Given the description of an element on the screen output the (x, y) to click on. 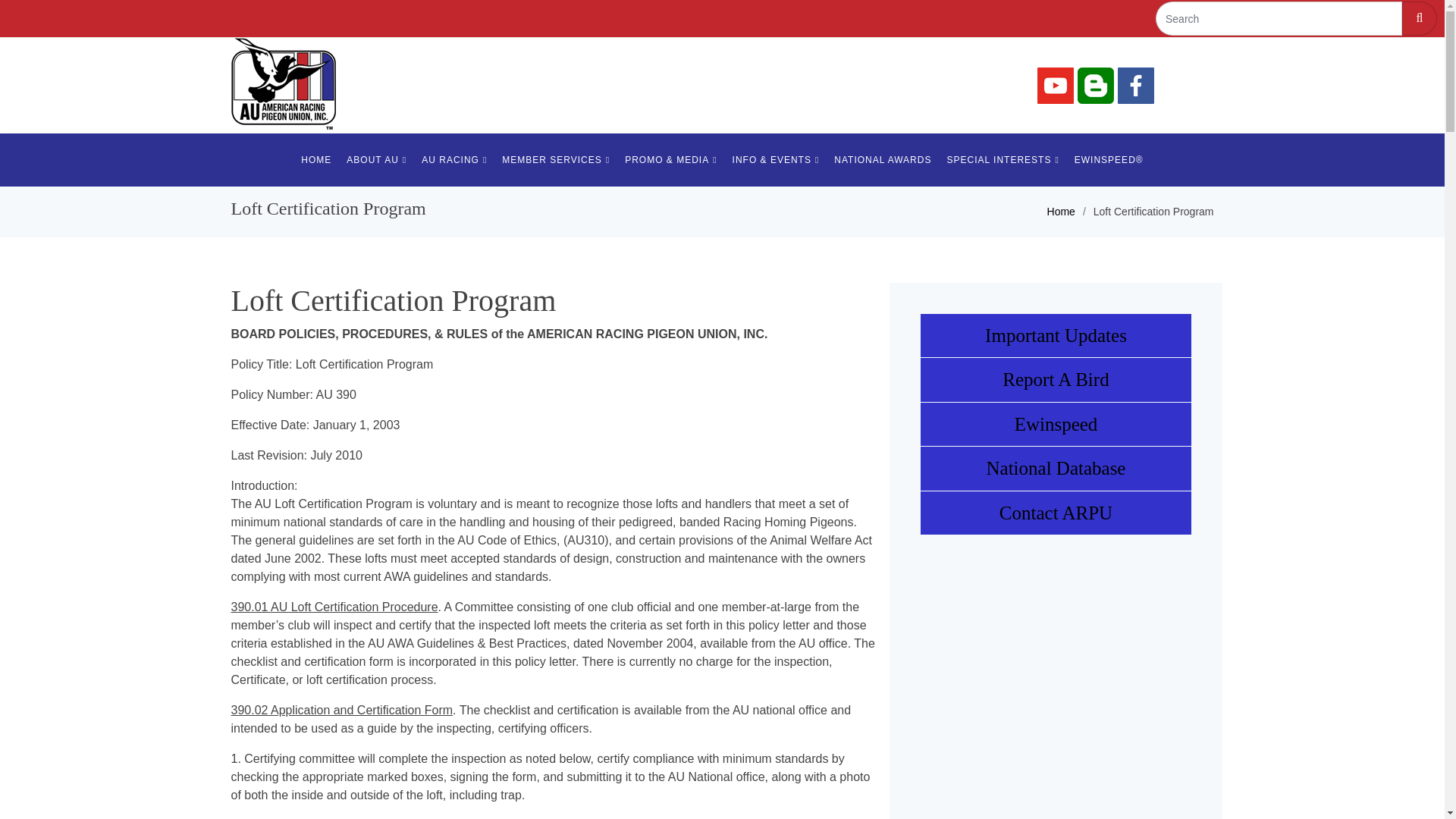
ABOUT AU (376, 160)
HOME (316, 160)
AU RACING (454, 160)
MEMBER SERVICES (556, 160)
